Given the description of an element on the screen output the (x, y) to click on. 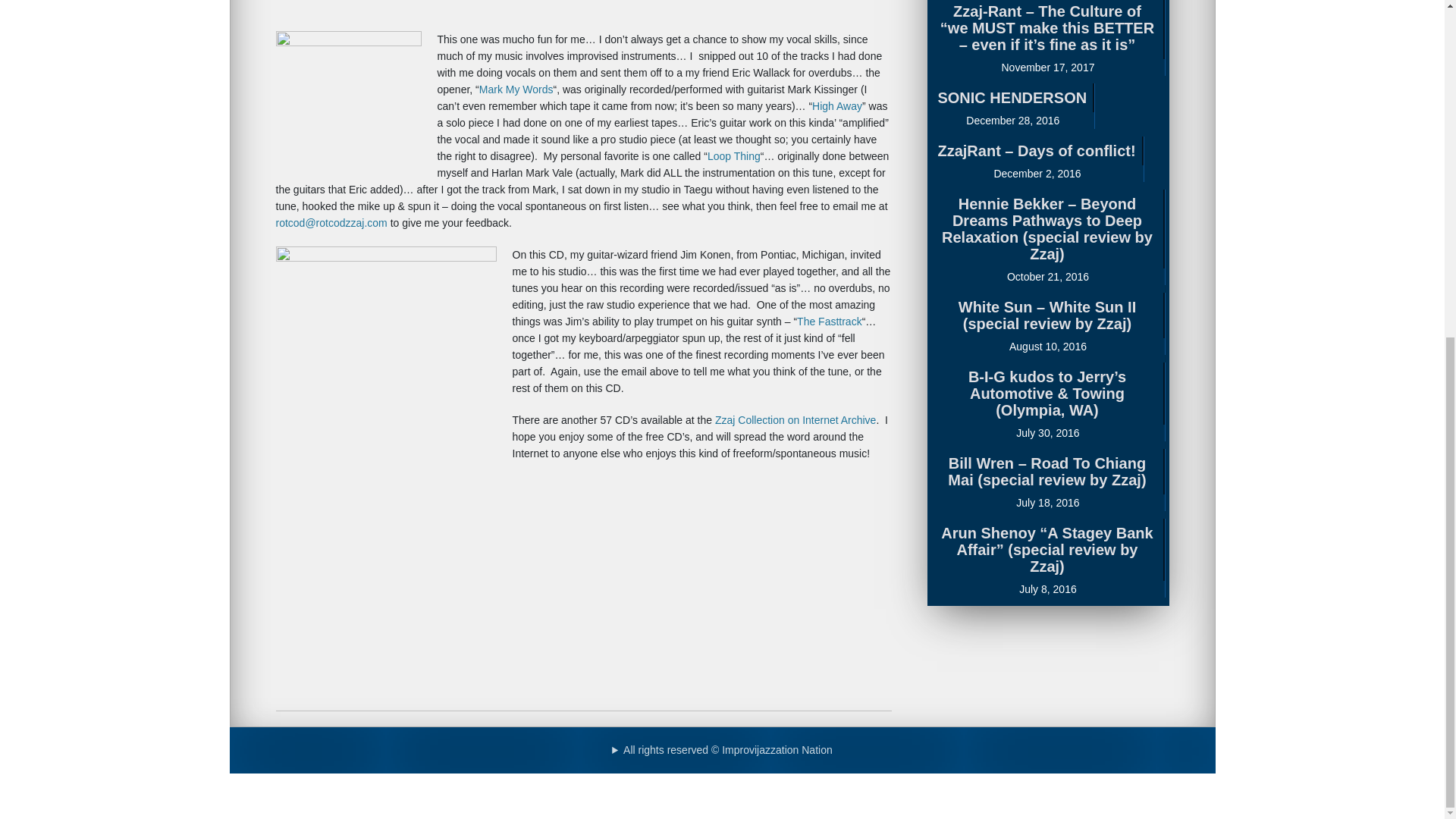
High Away (836, 105)
Zzaj Collection on Internet Archive (795, 419)
The Fasttrack (828, 321)
Loop Thing (733, 155)
Mark My Words (516, 89)
